Given the description of an element on the screen output the (x, y) to click on. 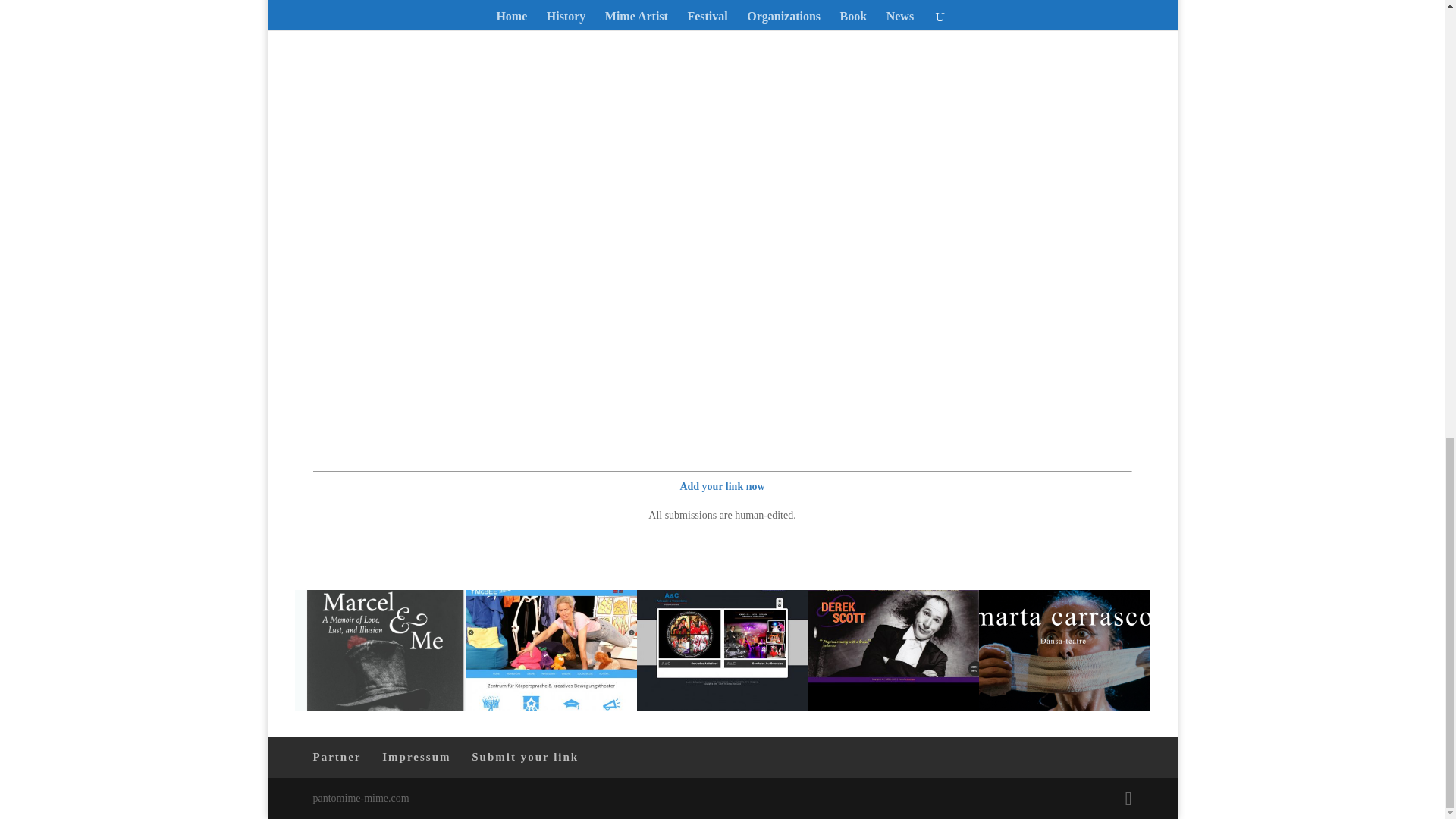
Add your link now (721, 486)
arlequin y colombina (722, 707)
marcel (379, 707)
marta (1064, 707)
derek scott (893, 707)
mc bee studio (551, 707)
